Given the description of an element on the screen output the (x, y) to click on. 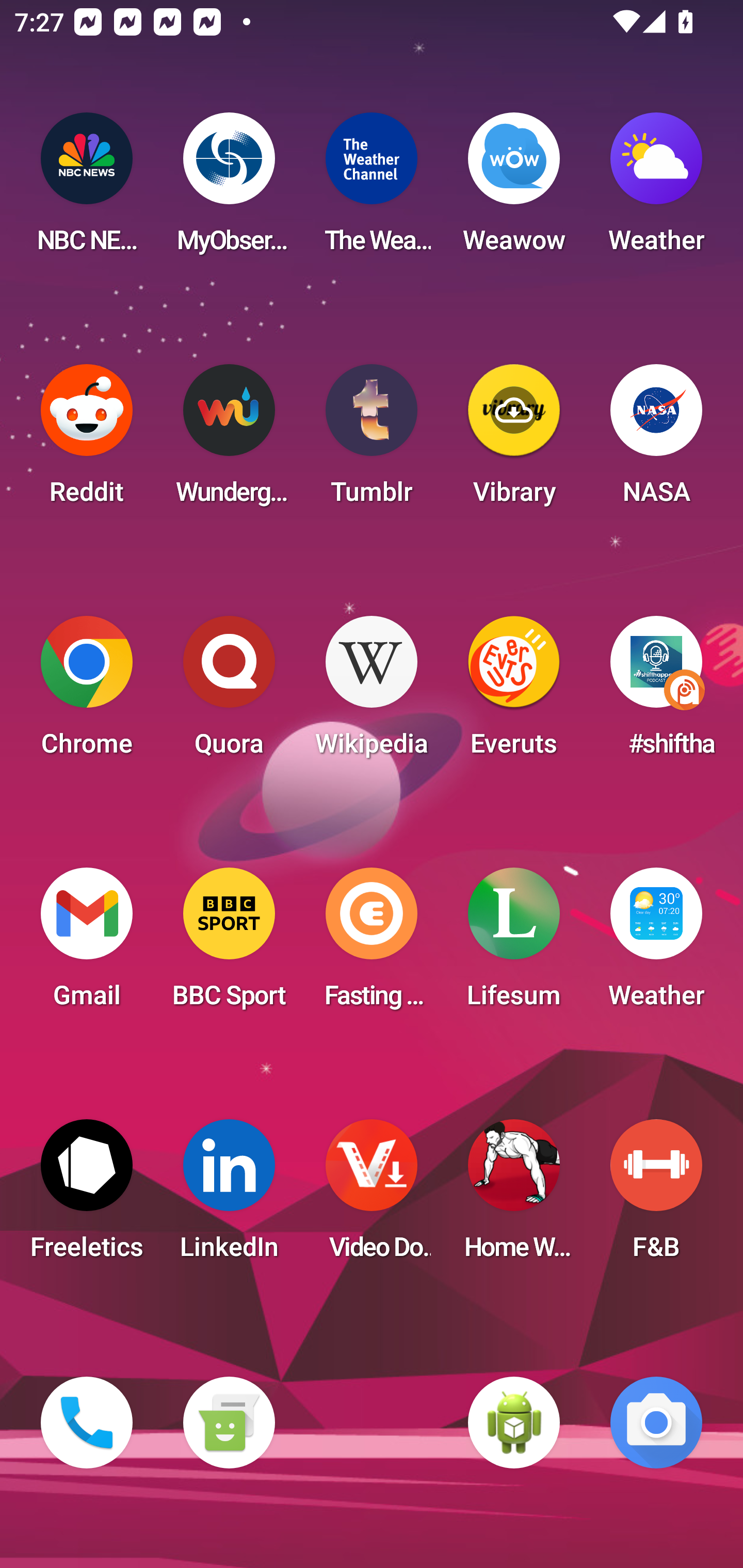
NBC NEWS (86, 188)
MyObservatory (228, 188)
The Weather Channel (371, 188)
Weawow (513, 188)
Weather (656, 188)
Reddit (86, 440)
Wunderground (228, 440)
Tumblr (371, 440)
Vibrary (513, 440)
NASA (656, 440)
Chrome (86, 692)
Quora (228, 692)
Wikipedia (371, 692)
Everuts (513, 692)
#shifthappens in the Digital Workplace Podcast (656, 692)
Gmail (86, 943)
BBC Sport (228, 943)
Fasting Coach (371, 943)
Lifesum (513, 943)
Weather (656, 943)
Freeletics (86, 1195)
LinkedIn (228, 1195)
Video Downloader & Ace Player (371, 1195)
Home Workout (513, 1195)
F&B (656, 1195)
Phone (86, 1422)
Messaging (228, 1422)
WebView Browser Tester (513, 1422)
Camera (656, 1422)
